Given the description of an element on the screen output the (x, y) to click on. 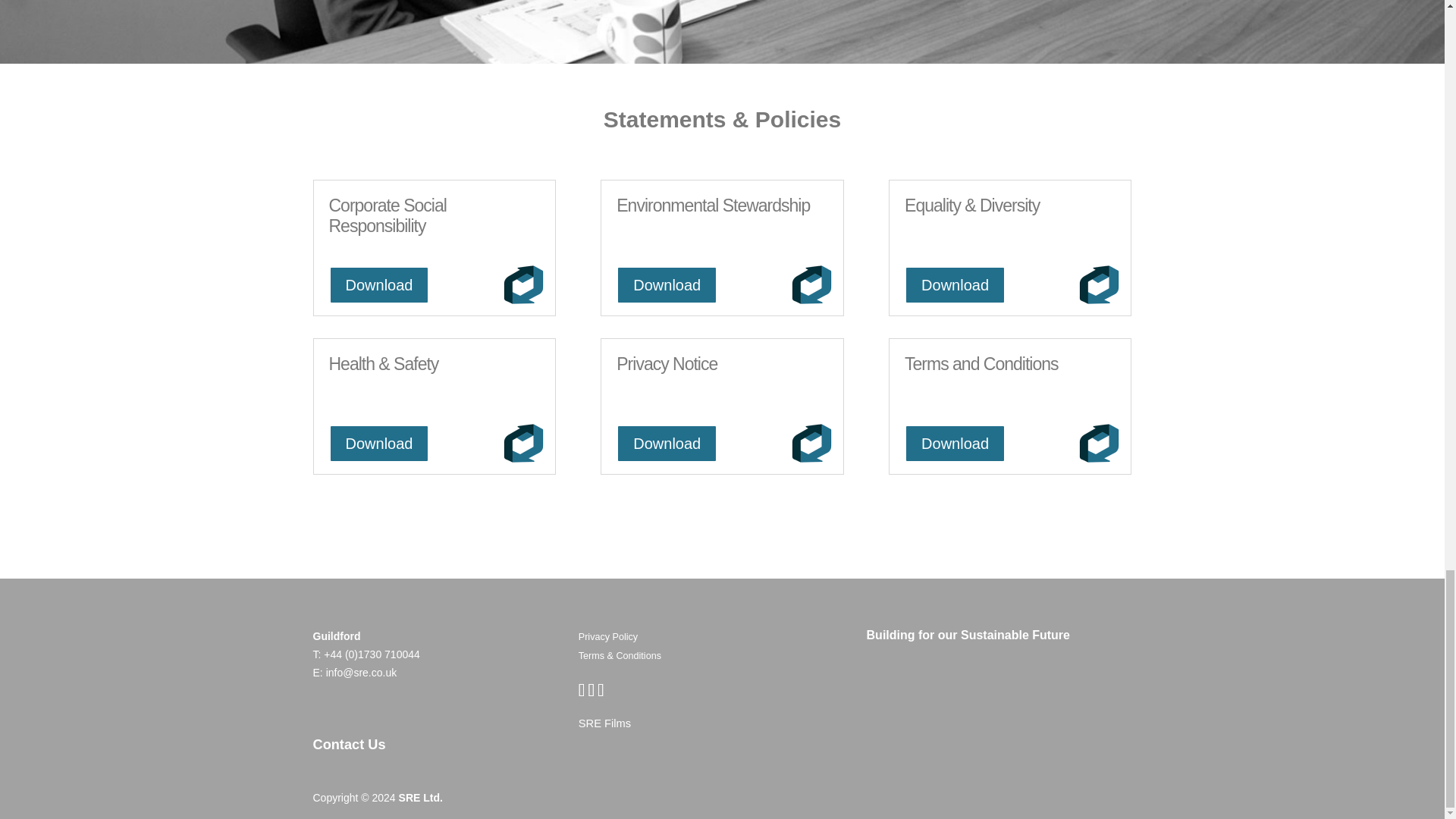
Download (379, 443)
SRE Films (604, 723)
Download (666, 284)
Download (379, 284)
Privacy Policy (607, 636)
SRE Ltd. (420, 797)
Download (955, 443)
Contact Us (349, 744)
Download (666, 443)
Download (955, 284)
